Given the description of an element on the screen output the (x, y) to click on. 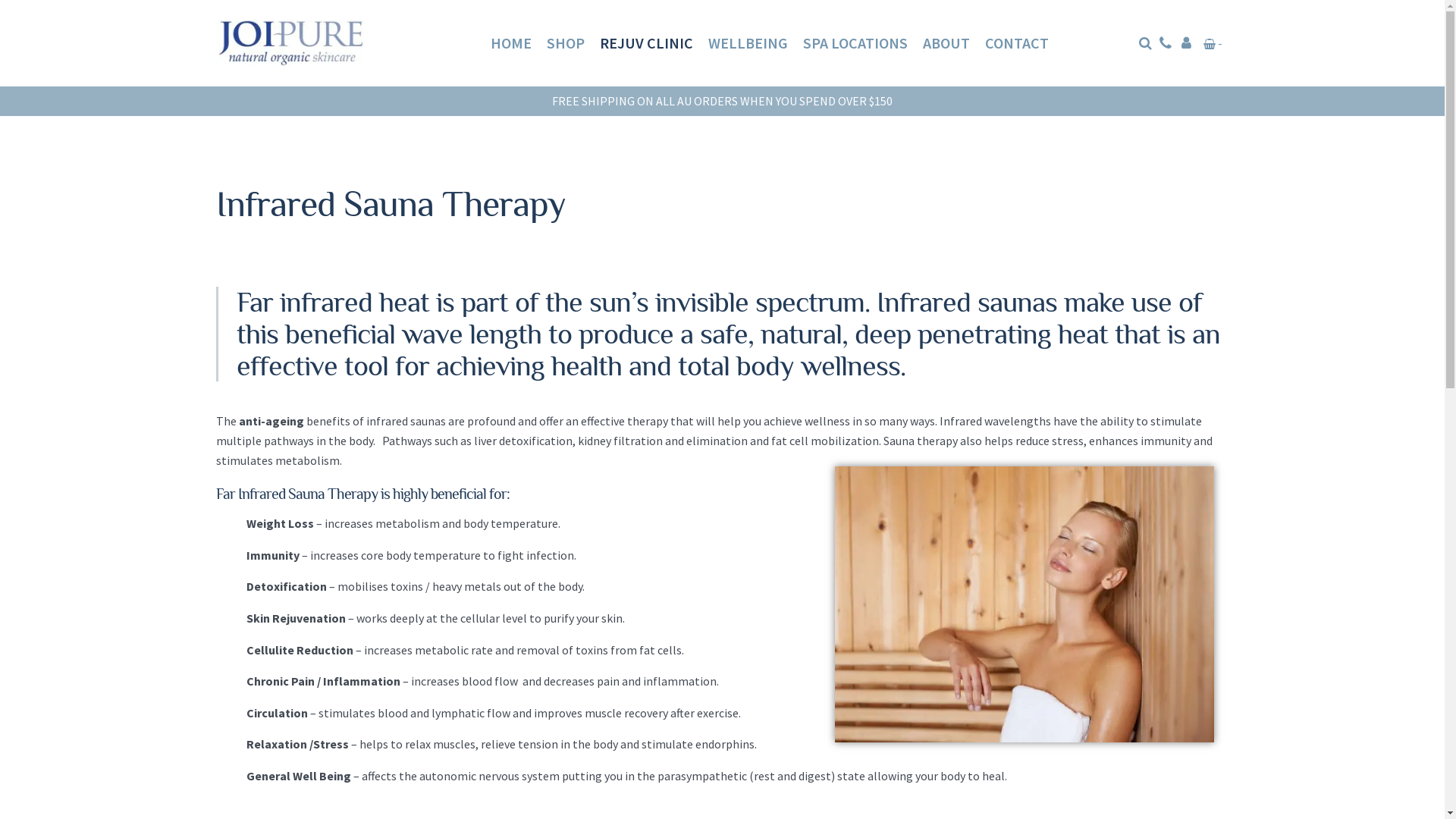
ABOUT Element type: text (946, 43)
- Element type: text (1212, 42)
WELLBEING Element type: text (747, 43)
REJUV CLINIC Element type: text (646, 43)
SPA LOCATIONS Element type: text (855, 43)
CONTACT Element type: text (1016, 43)
Login/Register Element type: text (1186, 43)
HOME Element type: text (511, 43)
SHOP Element type: text (565, 43)
